Given the description of an element on the screen output the (x, y) to click on. 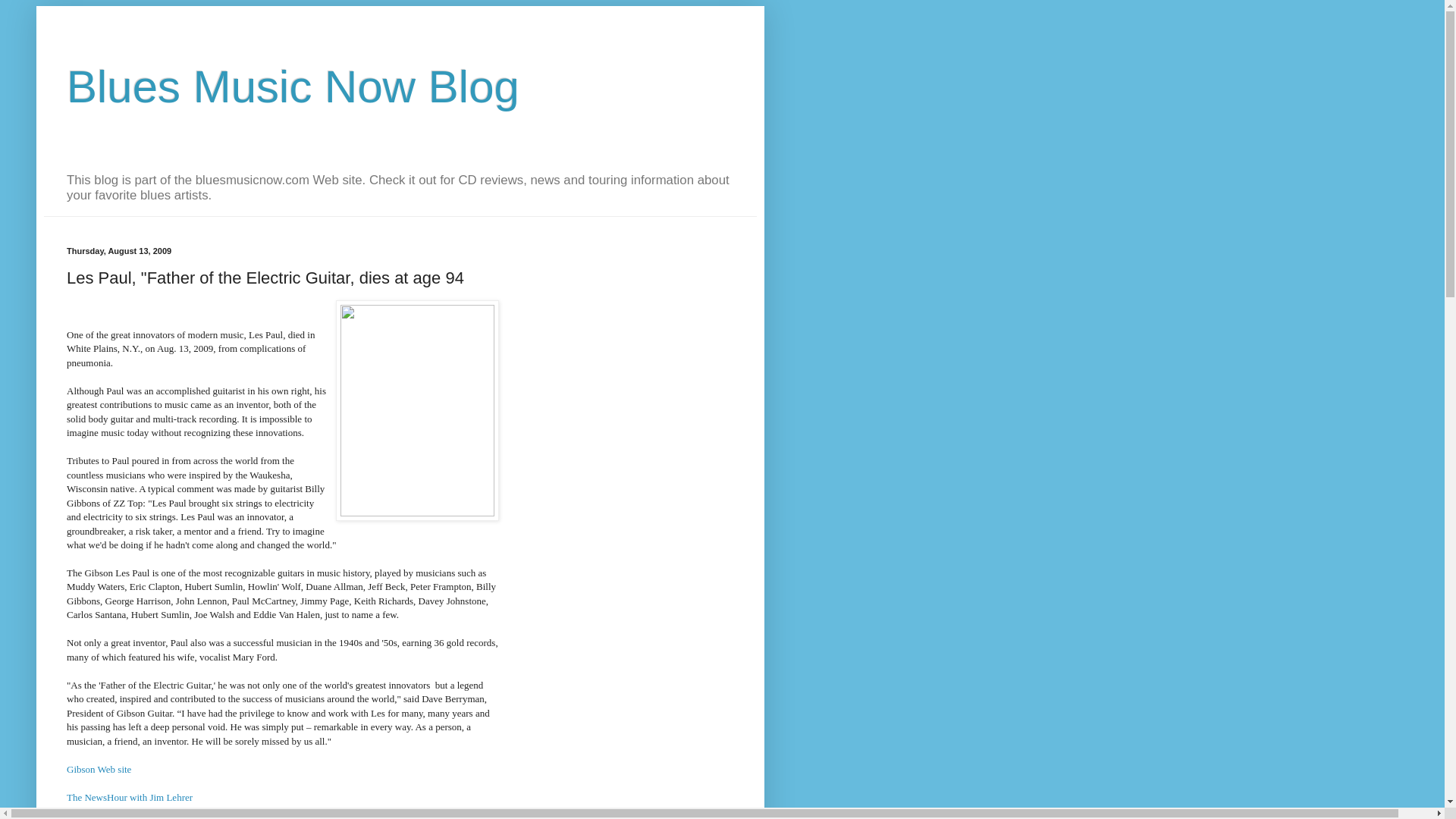
Blues Music Now Blog (292, 86)
Gibson Web site (98, 768)
The NewsHour with Jim Lehrer (129, 797)
